Given the description of an element on the screen output the (x, y) to click on. 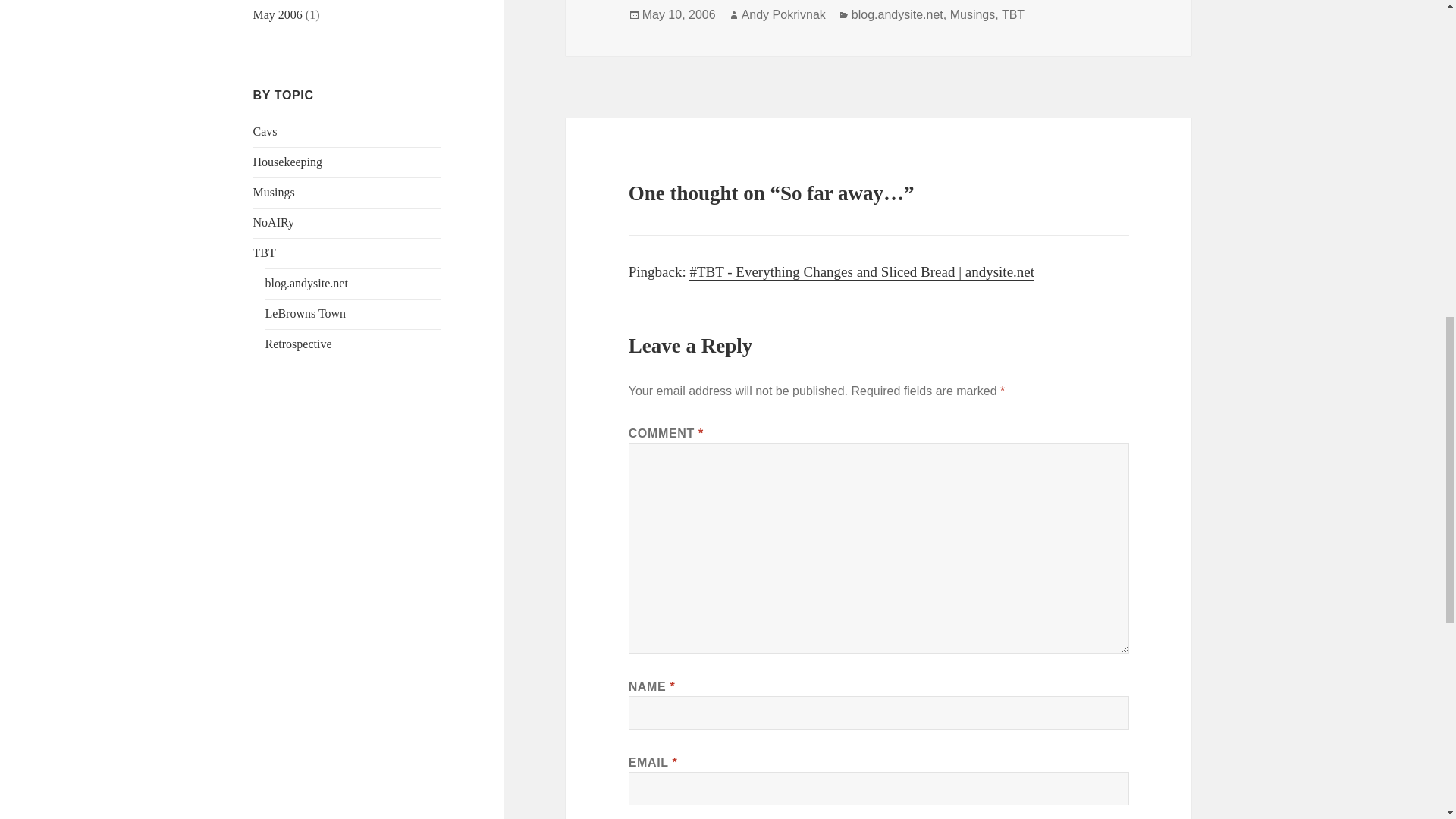
Housekeeping (288, 161)
Musings (274, 192)
May 10, 2006 (679, 15)
blog.andysite.net (305, 282)
Retrospective (297, 343)
LeBrowns Town (305, 313)
TBT (1013, 15)
NoAIRy (273, 222)
TBT (264, 252)
Andy Pokrivnak (783, 15)
Cavs (265, 131)
blog.andysite.net (897, 15)
May 2006 (277, 14)
Musings (972, 15)
